Given the description of an element on the screen output the (x, y) to click on. 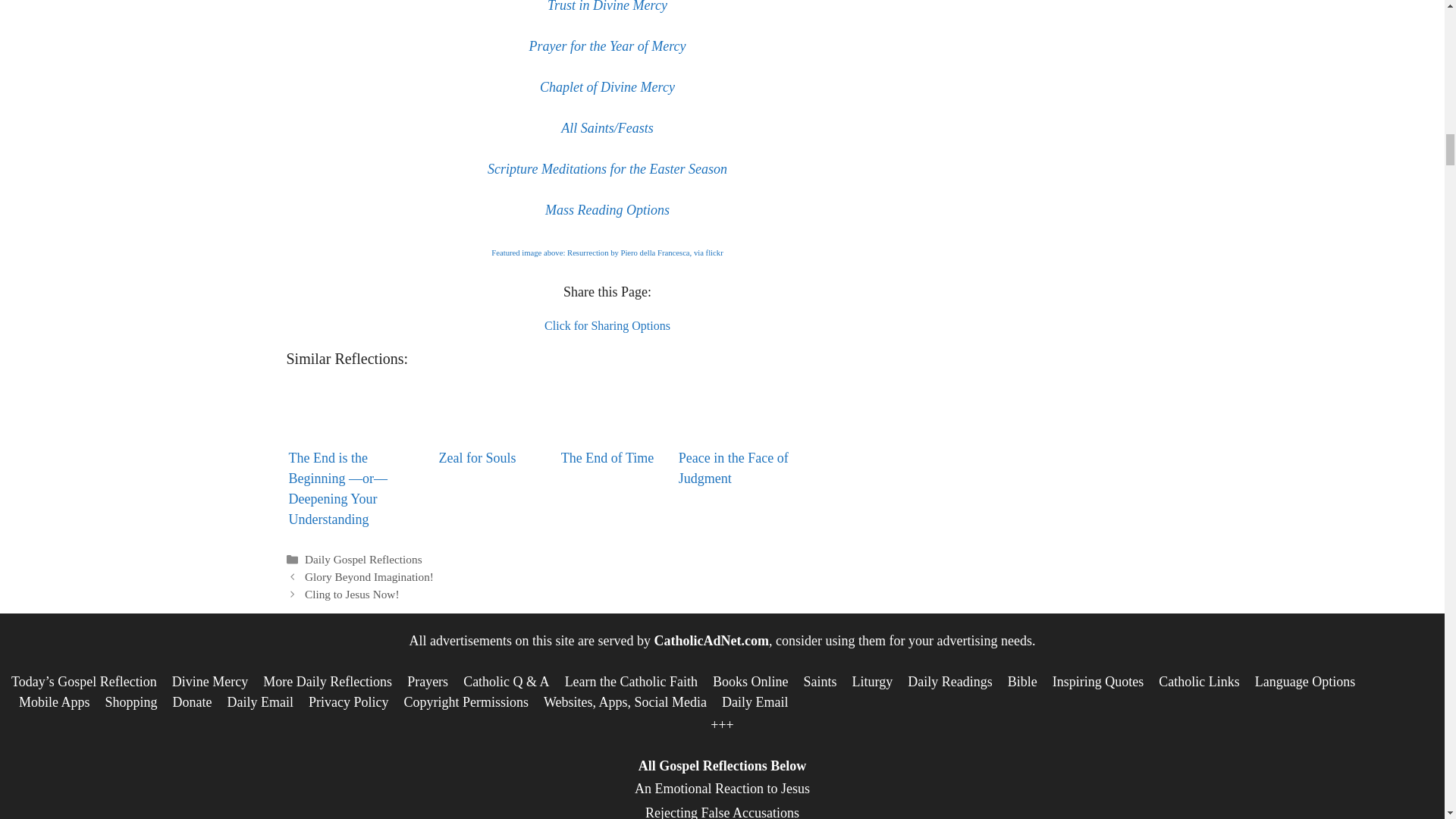
Mass Reading Options (606, 209)
Click for Sharing Options (606, 326)
Trust in Divine Mercy (606, 6)
Prayer for the Year of Mercy (606, 46)
Chaplet of Divine Mercy (607, 87)
Scripture Meditations for the Easter Season (606, 168)
